Given the description of an element on the screen output the (x, y) to click on. 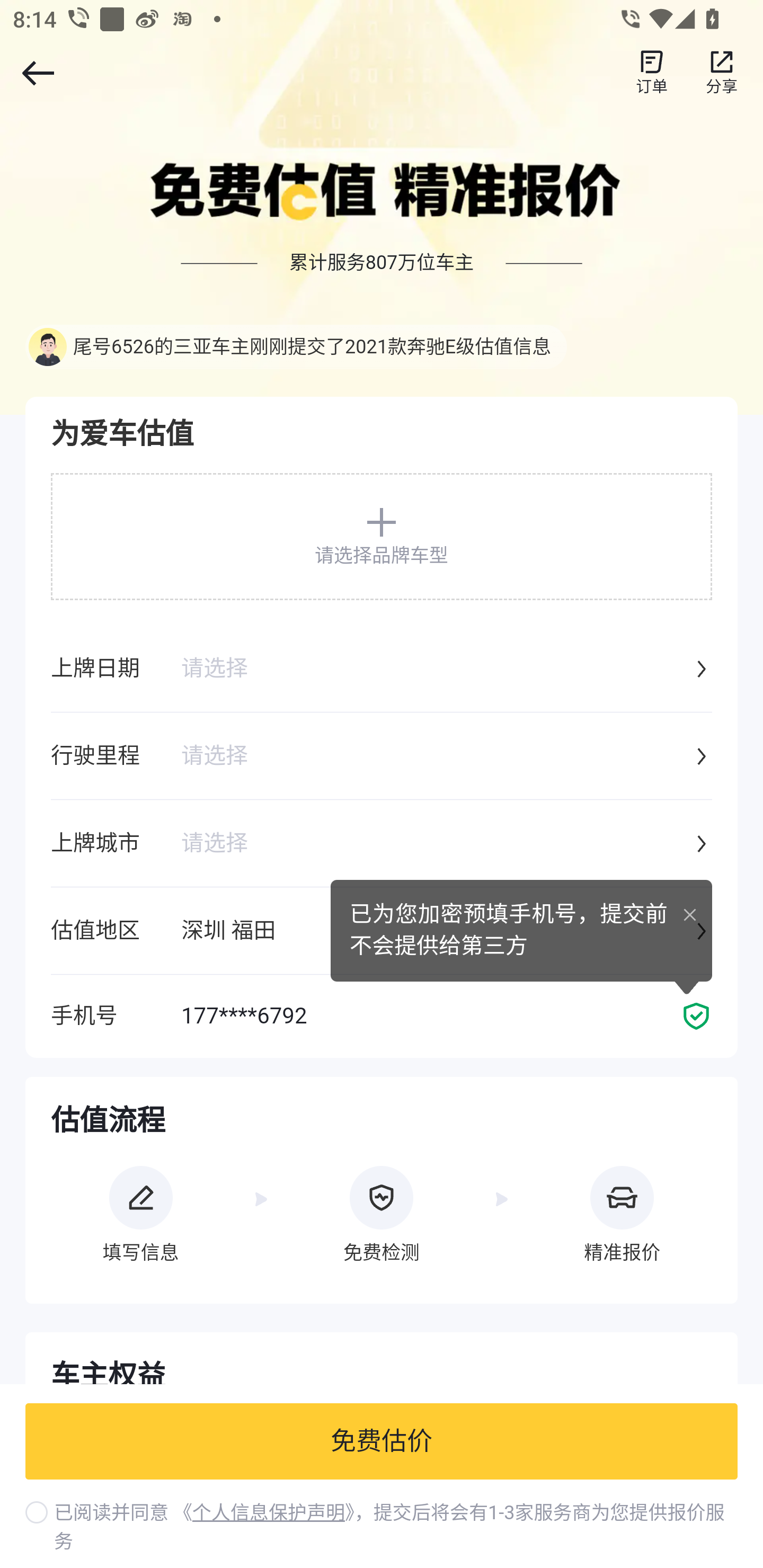
订单 (651, 72)
分享 (721, 72)
请选择品牌车型 (381, 535)
请选择 (435, 669)
请选择 (435, 757)
请选择 (435, 844)
已为您加密预填手机号，提交前不会提供给第三方 (520, 929)
177****6792 (430, 1016)
免费估价 (381, 1441)
个人信息保护声明 (267, 1513)
